Given the description of an element on the screen output the (x, y) to click on. 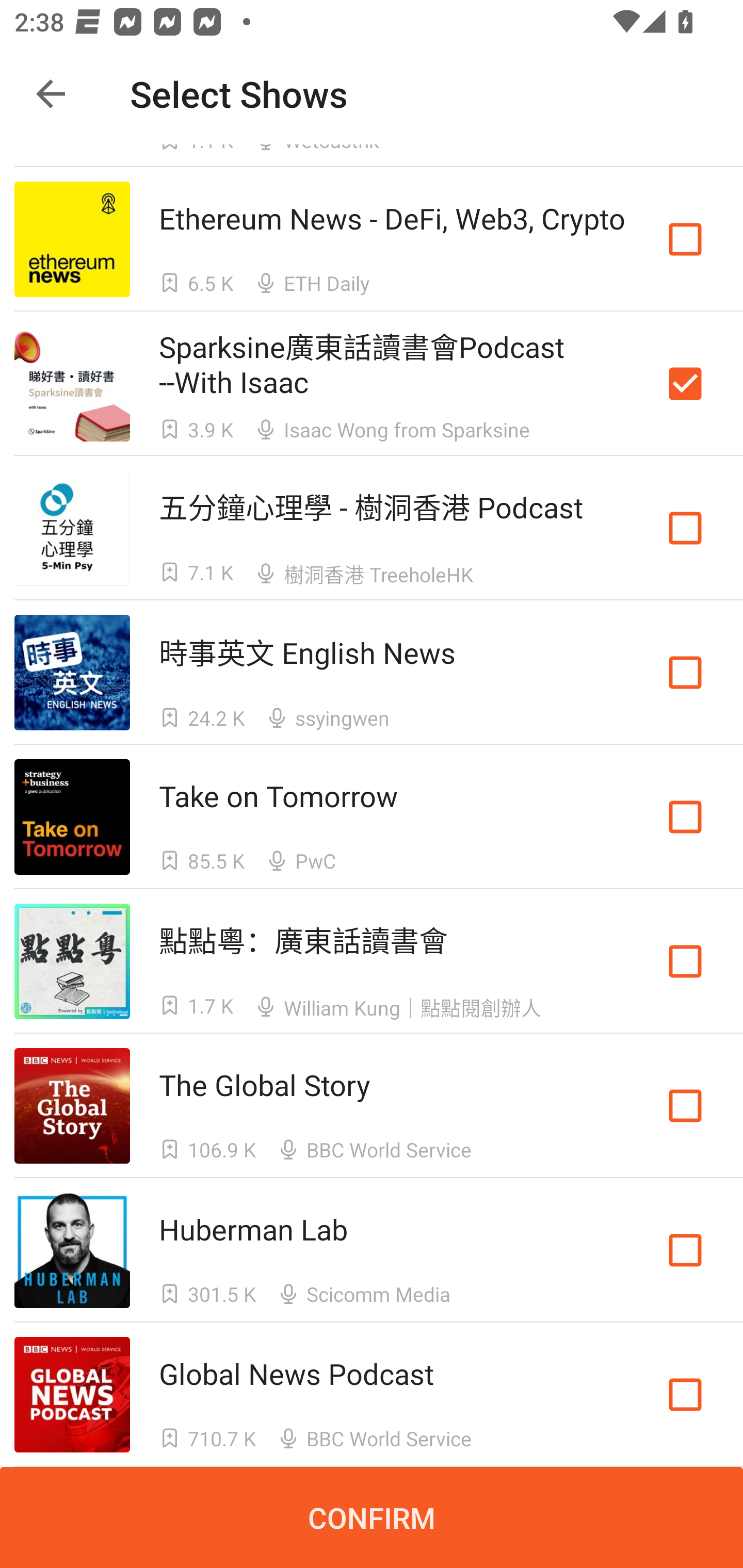
Navigate up (50, 93)
Take on Tomorrow Take on Tomorrow  85.5 K  PwC (371, 816)
CONFIRM (371, 1517)
